Given the description of an element on the screen output the (x, y) to click on. 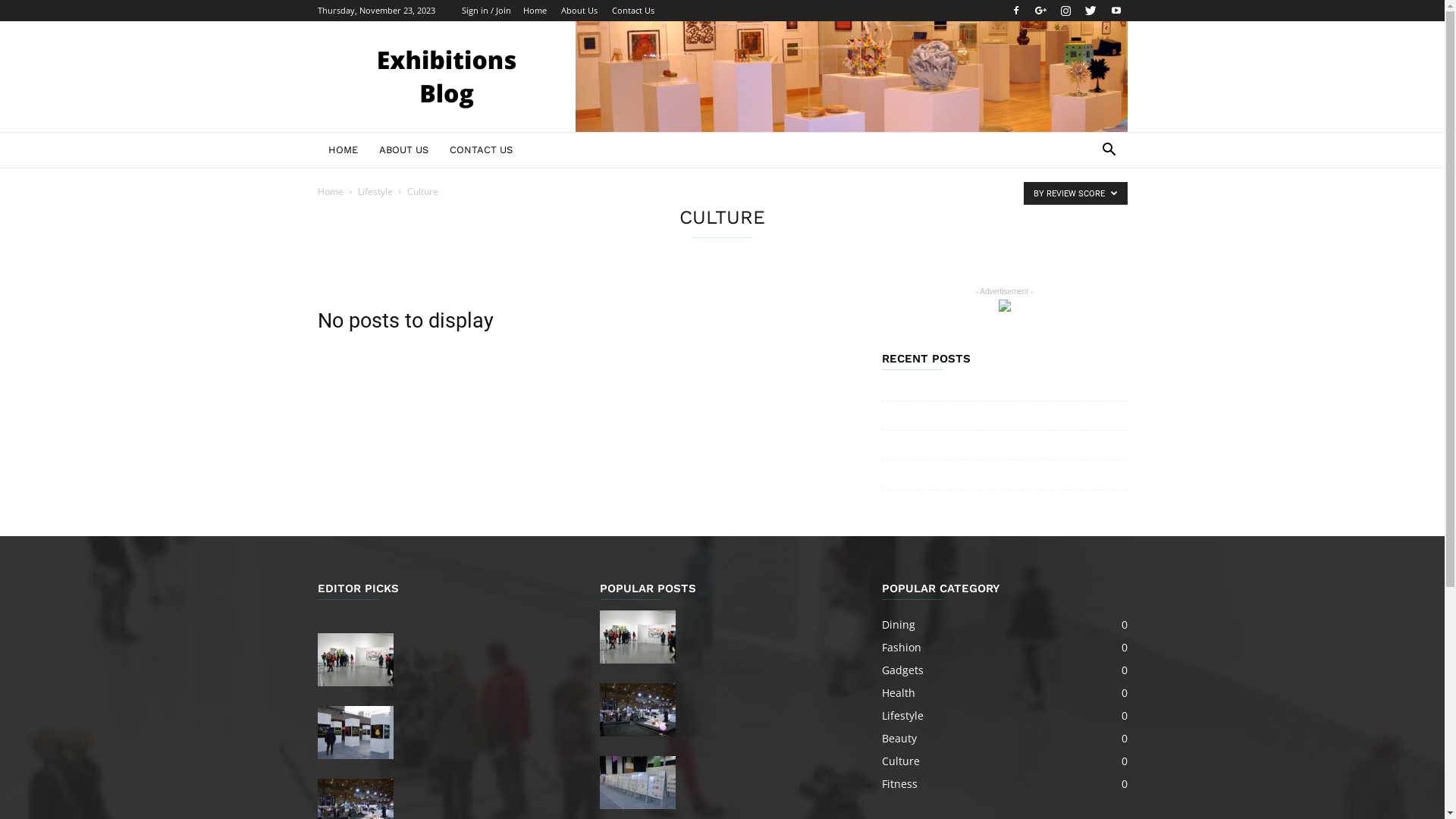
About Us Element type: text (579, 9)
Fashion
0 Element type: text (900, 647)
Home Element type: text (329, 191)
Gadgets
0 Element type: text (901, 669)
Beauty
0 Element type: text (898, 738)
Contact Us Element type: text (632, 9)
Twitter Element type: hover (1090, 10)
Search Element type: text (1085, 210)
Google+ Element type: hover (1040, 10)
Lifestyle
0 Element type: text (901, 715)
Culture
0 Element type: text (900, 760)
Instagram Element type: hover (1065, 10)
HOME Element type: text (341, 149)
Sign in / Join Element type: text (485, 9)
Home Element type: text (534, 9)
Fitness
0 Element type: text (898, 783)
ABOUT US Element type: text (403, 149)
Dining
0 Element type: text (897, 624)
Health
0 Element type: text (897, 692)
Lifestyle Element type: text (374, 191)
Youtube Element type: hover (1115, 10)
Facebook Element type: hover (1015, 10)
CONTACT US Element type: text (480, 149)
